Given the description of an element on the screen output the (x, y) to click on. 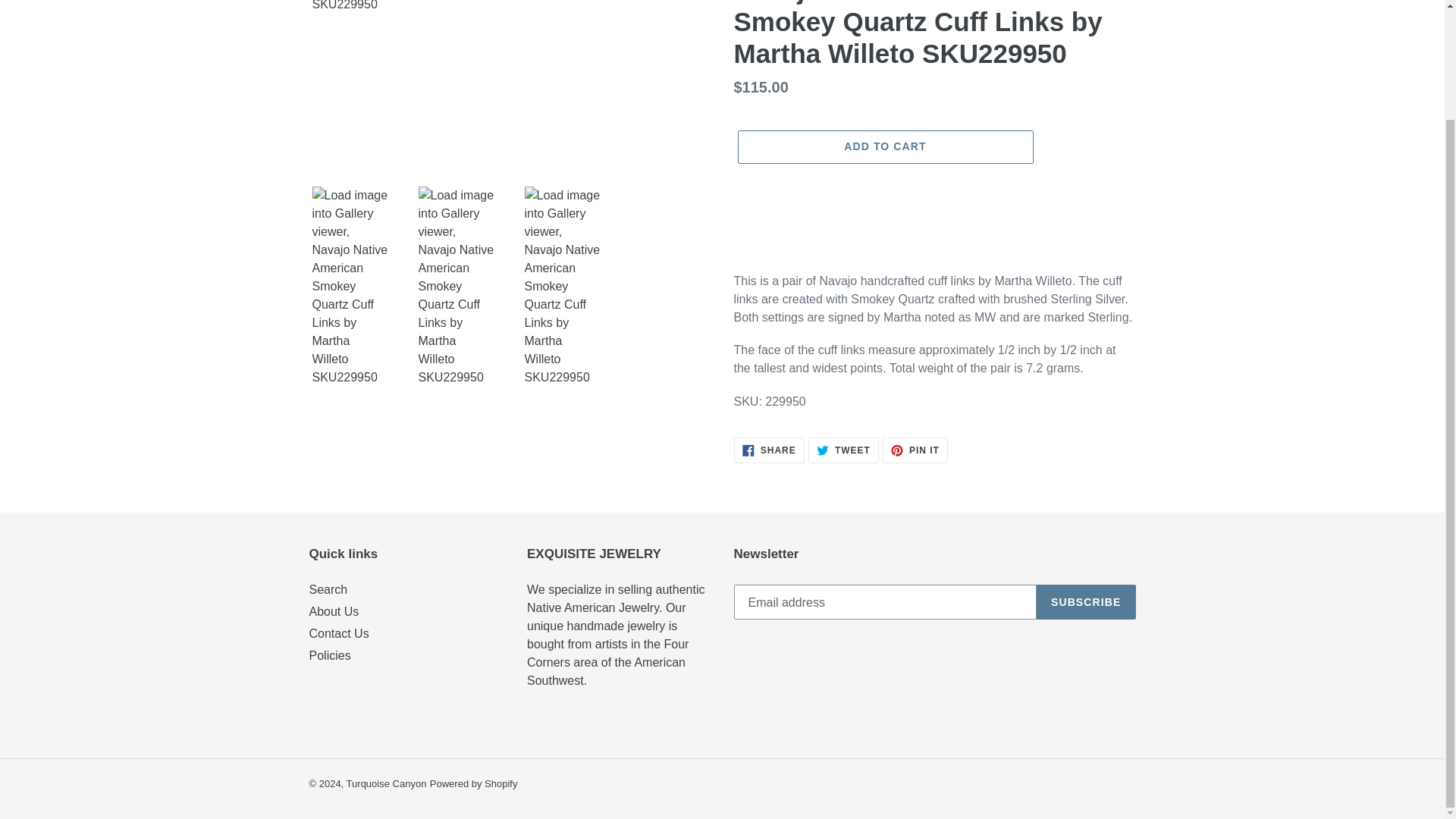
Turquoise Canyon (386, 783)
Search (327, 589)
About Us (333, 611)
SUBSCRIBE (1085, 601)
Powered by Shopify (914, 450)
Contact Us (843, 450)
ADD TO CART (473, 783)
Policies (338, 633)
